Given the description of an element on the screen output the (x, y) to click on. 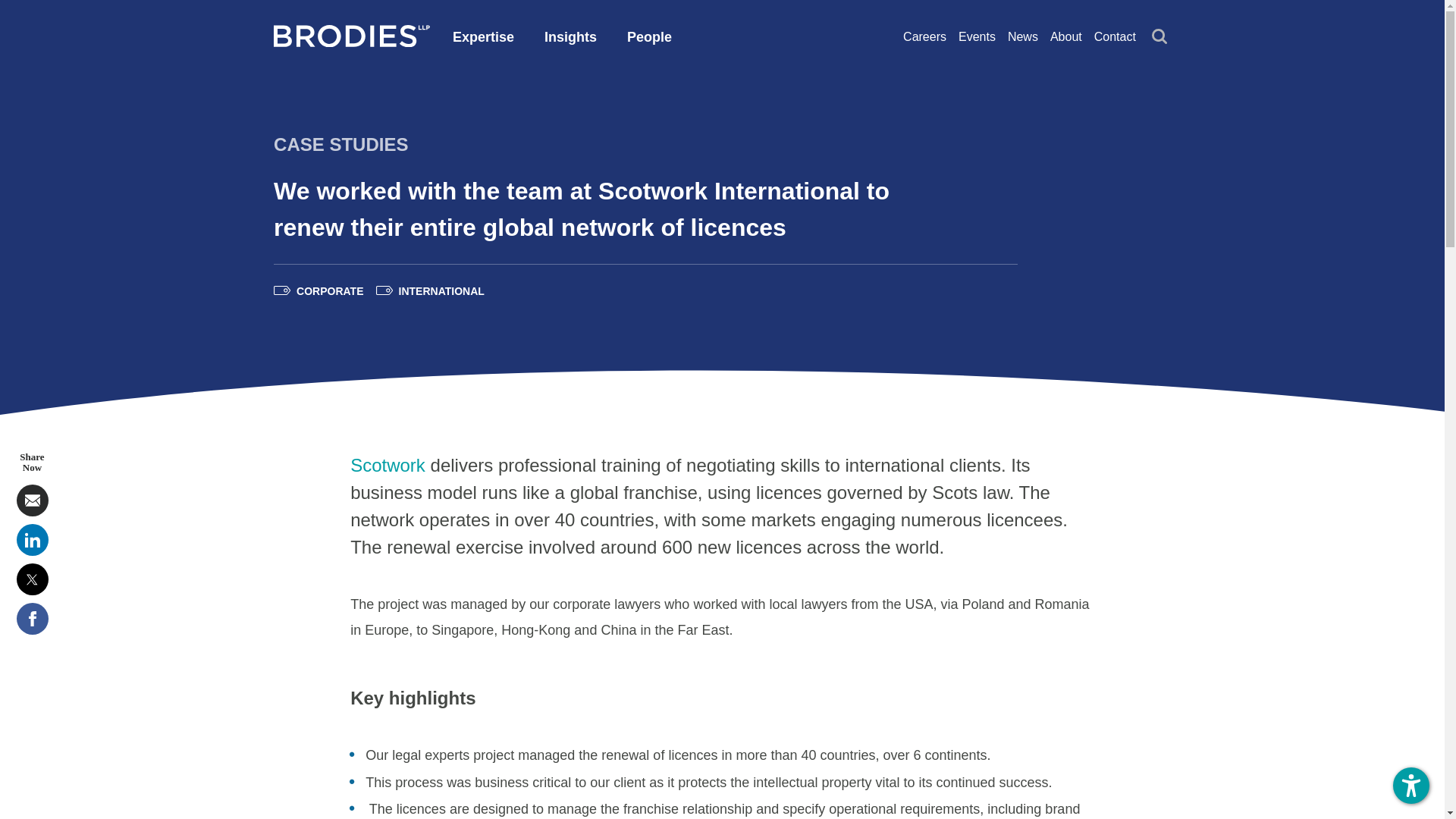
Share via email (32, 500)
Click to return to the homepage (351, 42)
Share on LinkedIn (32, 540)
Share on Facebook (32, 618)
Open accessibility tools (1411, 785)
Share on Twitter (32, 579)
Brodies (351, 42)
Brodies (351, 36)
